Given the description of an element on the screen output the (x, y) to click on. 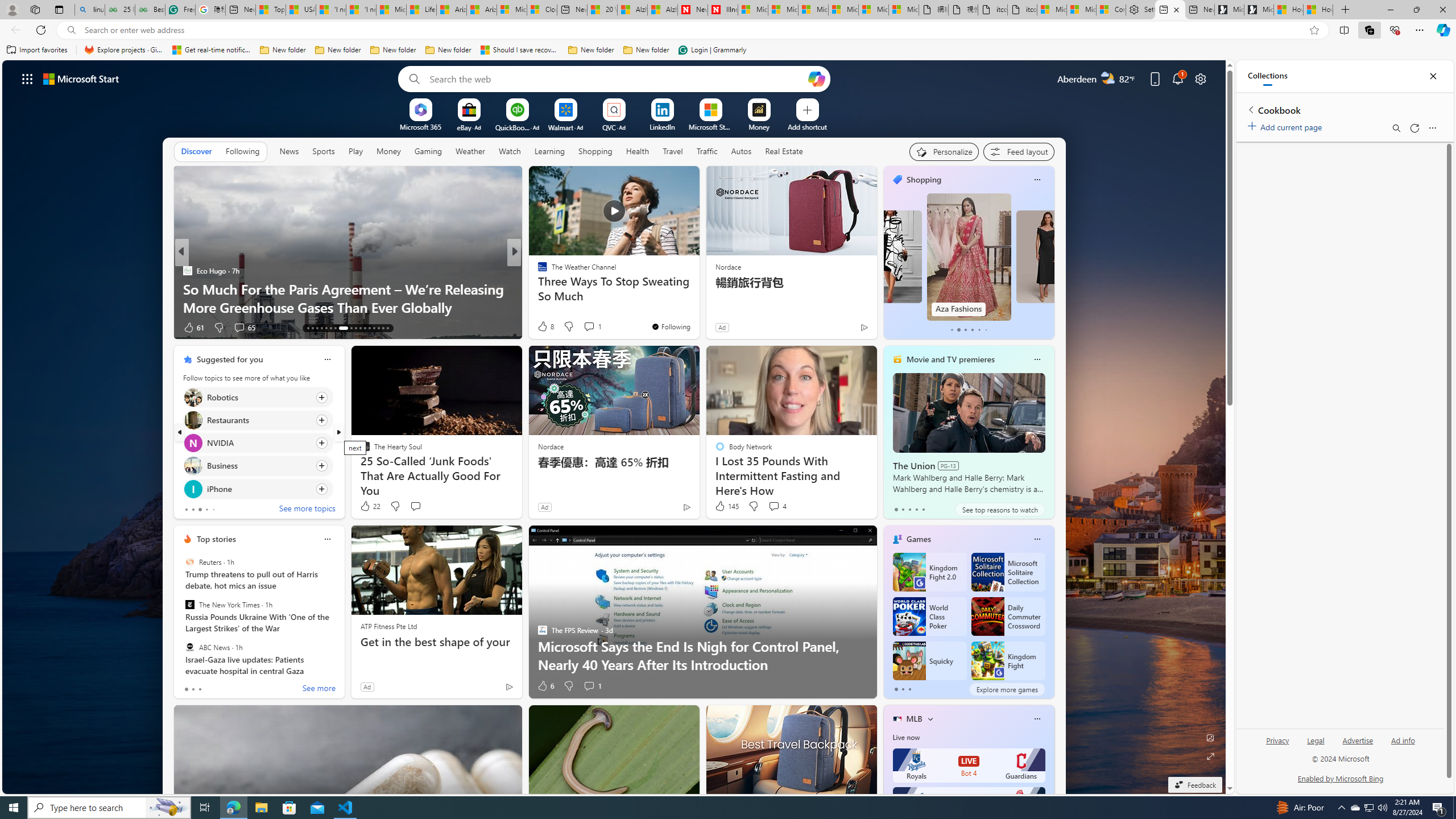
Click to follow topic iPhone (257, 488)
CNET (537, 288)
Expand background (1210, 756)
View comments 36 Comment (597, 327)
145 Like (726, 505)
Reuters (189, 561)
AutomationID: tab-16 (321, 328)
